Given the description of an element on the screen output the (x, y) to click on. 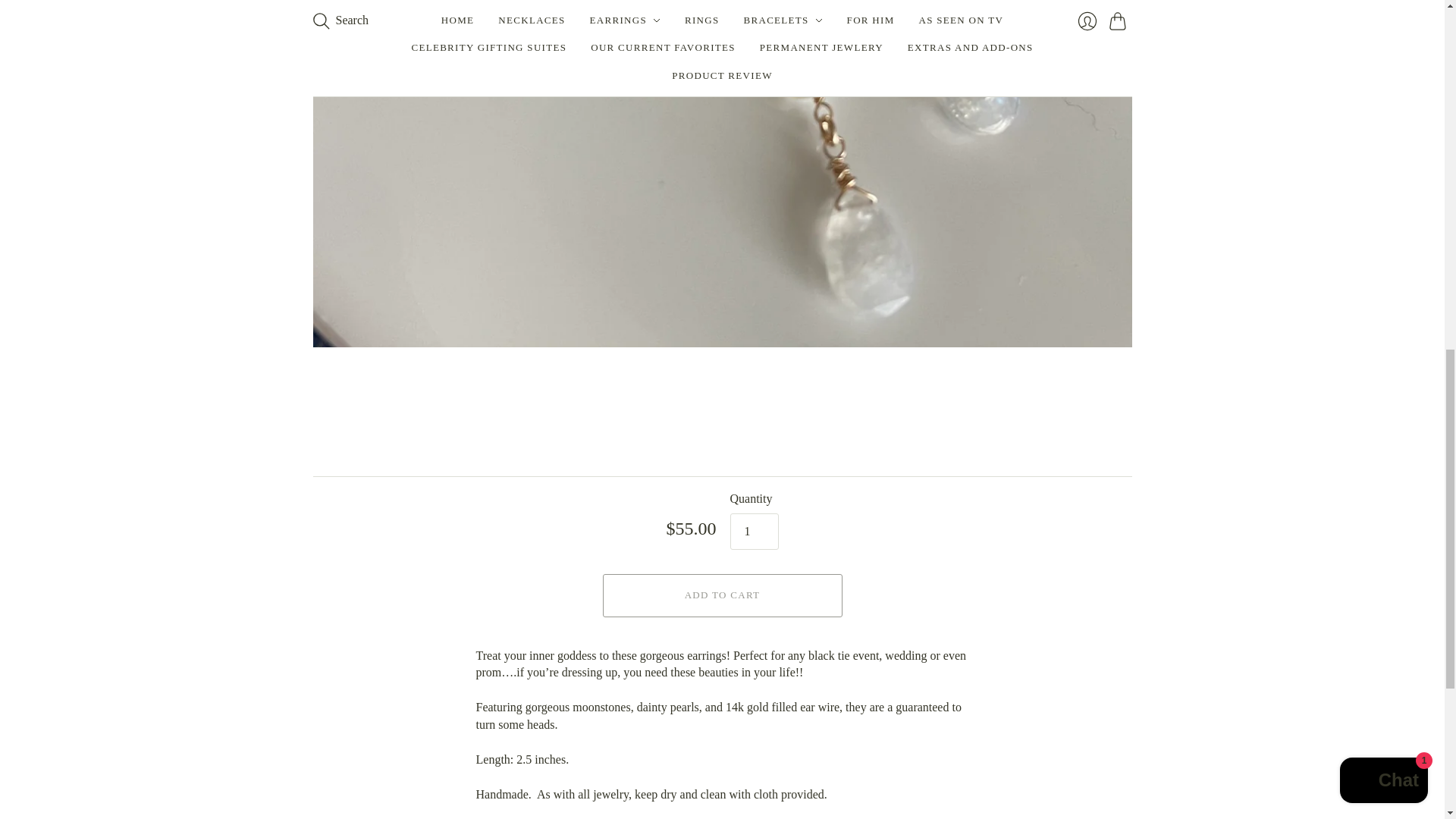
1 (753, 531)
